Given the description of an element on the screen output the (x, y) to click on. 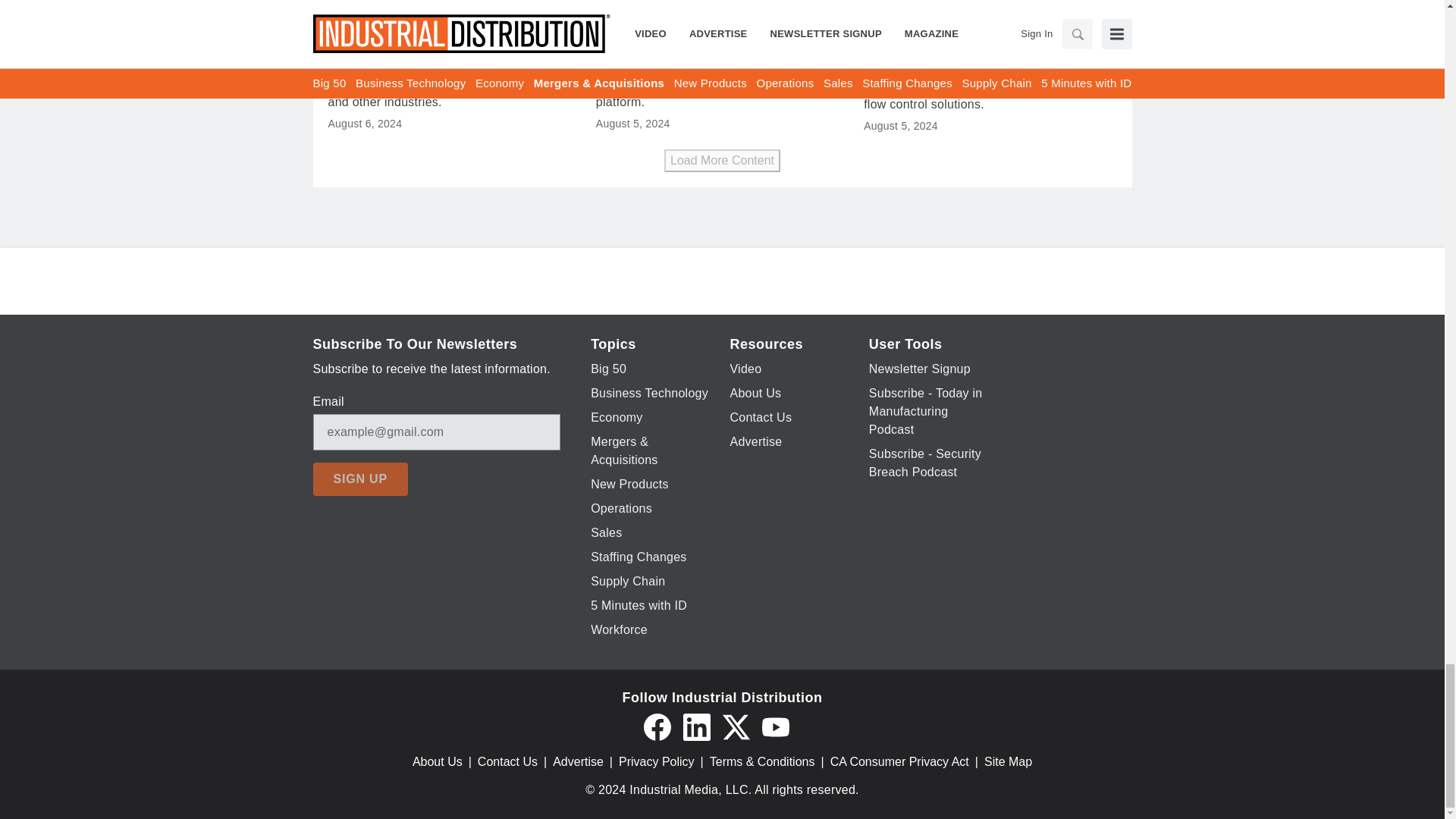
YouTube icon (775, 727)
Twitter X icon (735, 727)
LinkedIn icon (696, 727)
Facebook icon (656, 727)
